Given the description of an element on the screen output the (x, y) to click on. 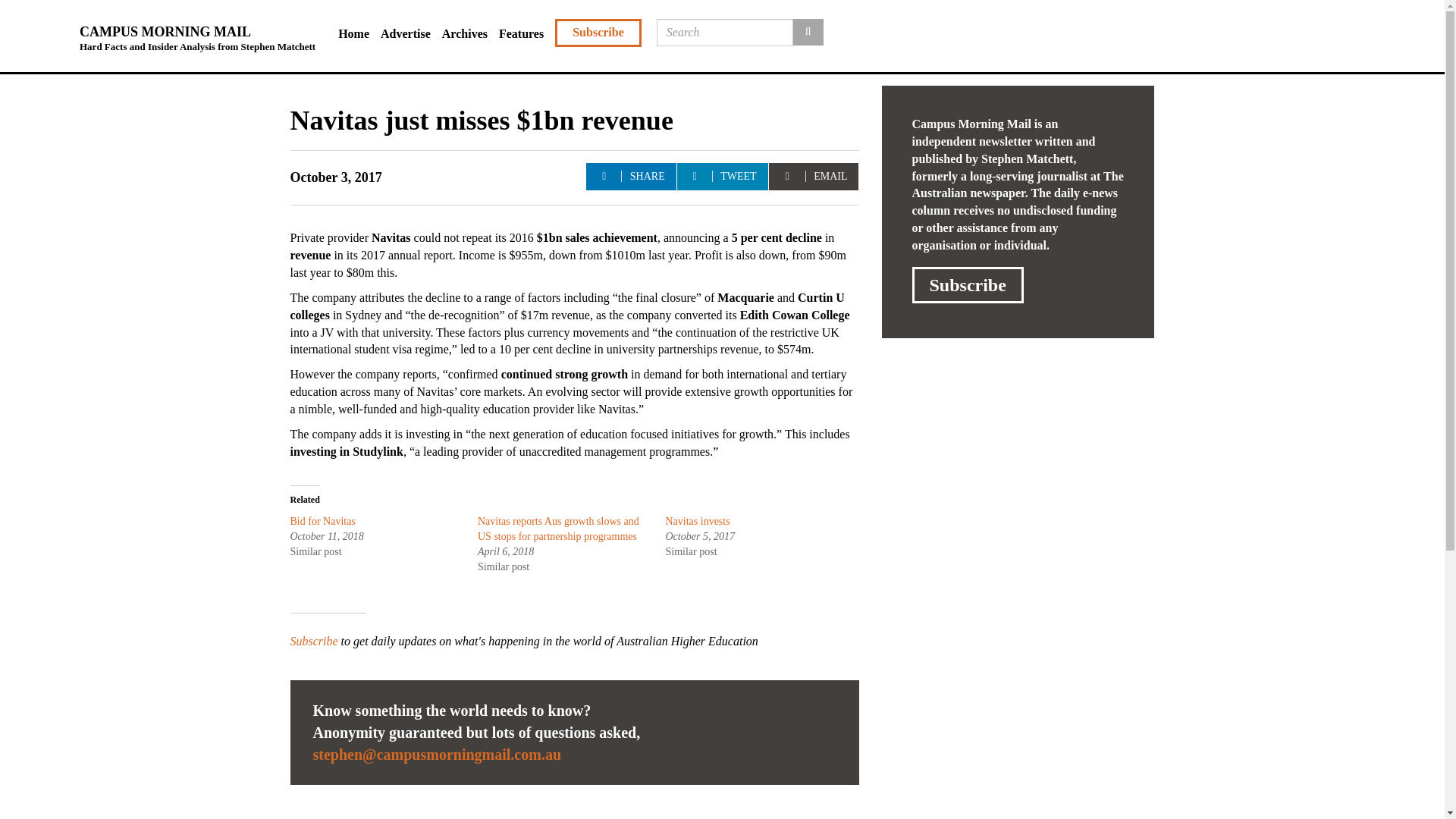
EMAIL (813, 176)
Home (358, 34)
Search (808, 31)
Share via email (813, 176)
Subscribe (313, 641)
Campus Morning Mail (197, 33)
Bid for Navitas (322, 521)
Features (526, 34)
Navitas invests (697, 521)
Advertise (411, 34)
